Given the description of an element on the screen output the (x, y) to click on. 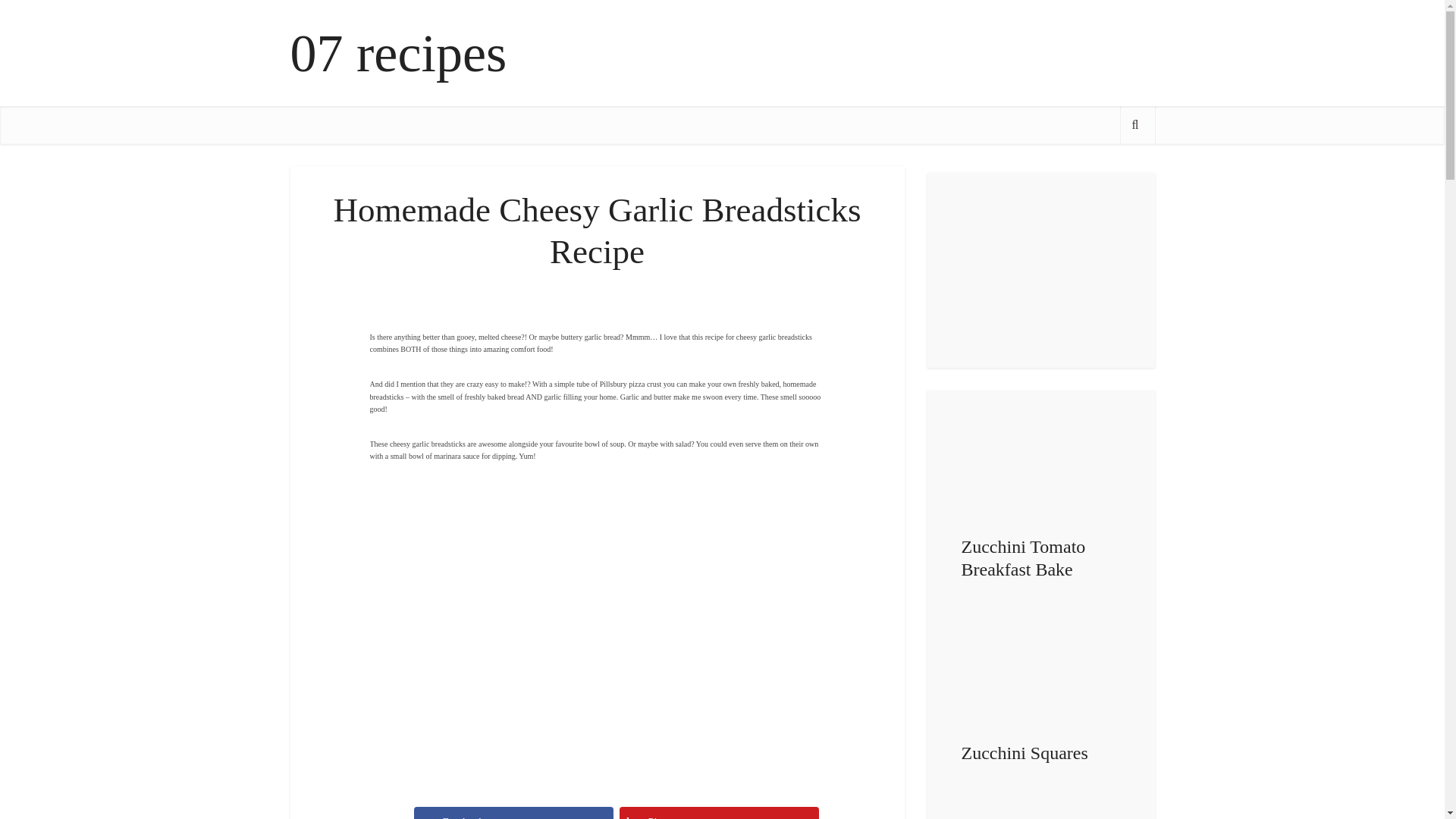
Facebook (512, 812)
07 recipes (397, 53)
Advertisement (597, 542)
Share on Pinterest (719, 812)
Share on Facebook (512, 812)
Pinterest (719, 812)
